Given the description of an element on the screen output the (x, y) to click on. 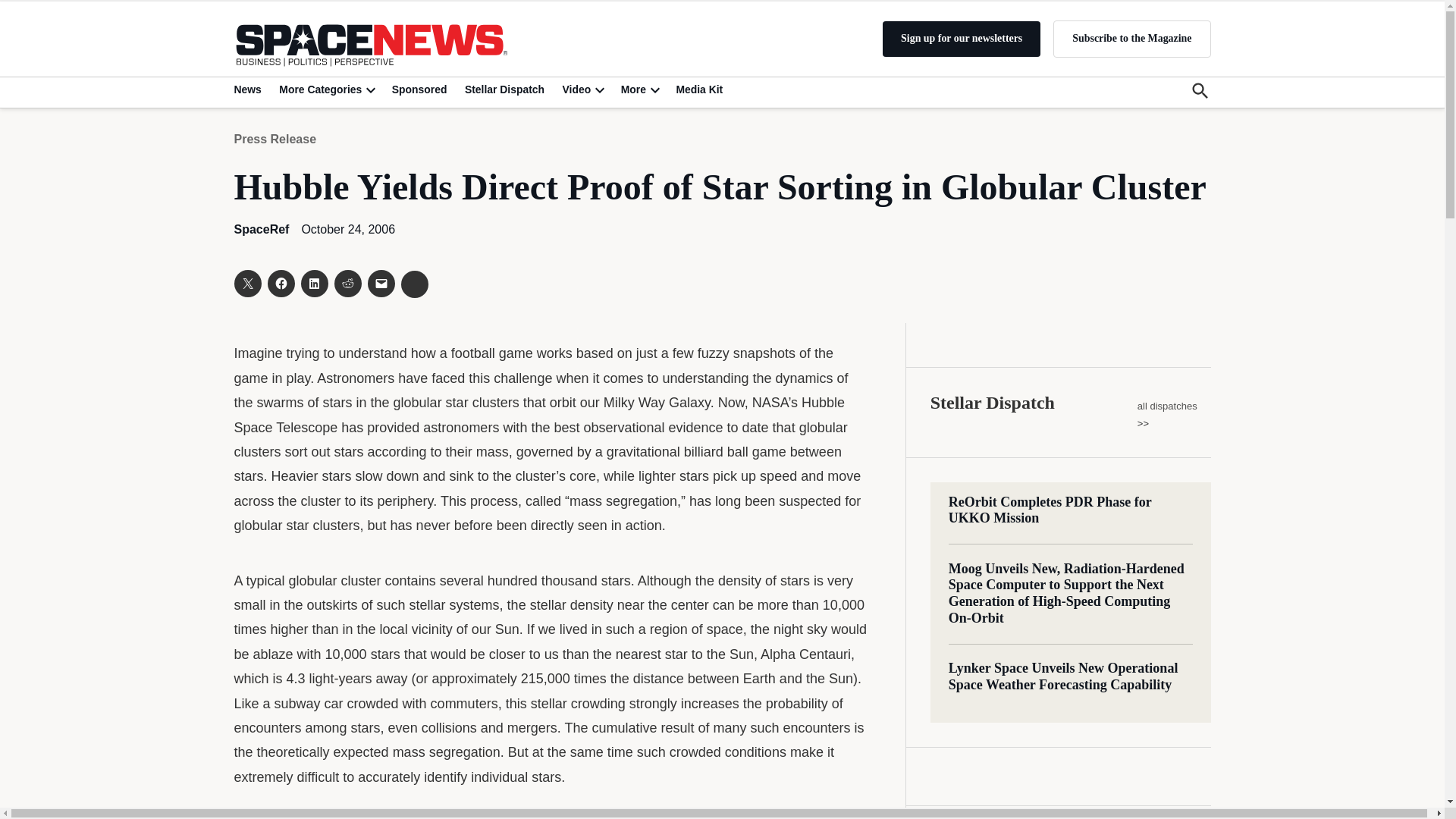
Sign up for our newsletters (961, 38)
Subscribe to the Magazine (1130, 38)
Click to share on Facebook (280, 283)
Click to share on Reddit (347, 283)
Click to share on Clipboard (414, 284)
Click to email a link to a friend (380, 283)
Click to share on LinkedIn (313, 283)
Click to share on X (246, 283)
